Given the description of an element on the screen output the (x, y) to click on. 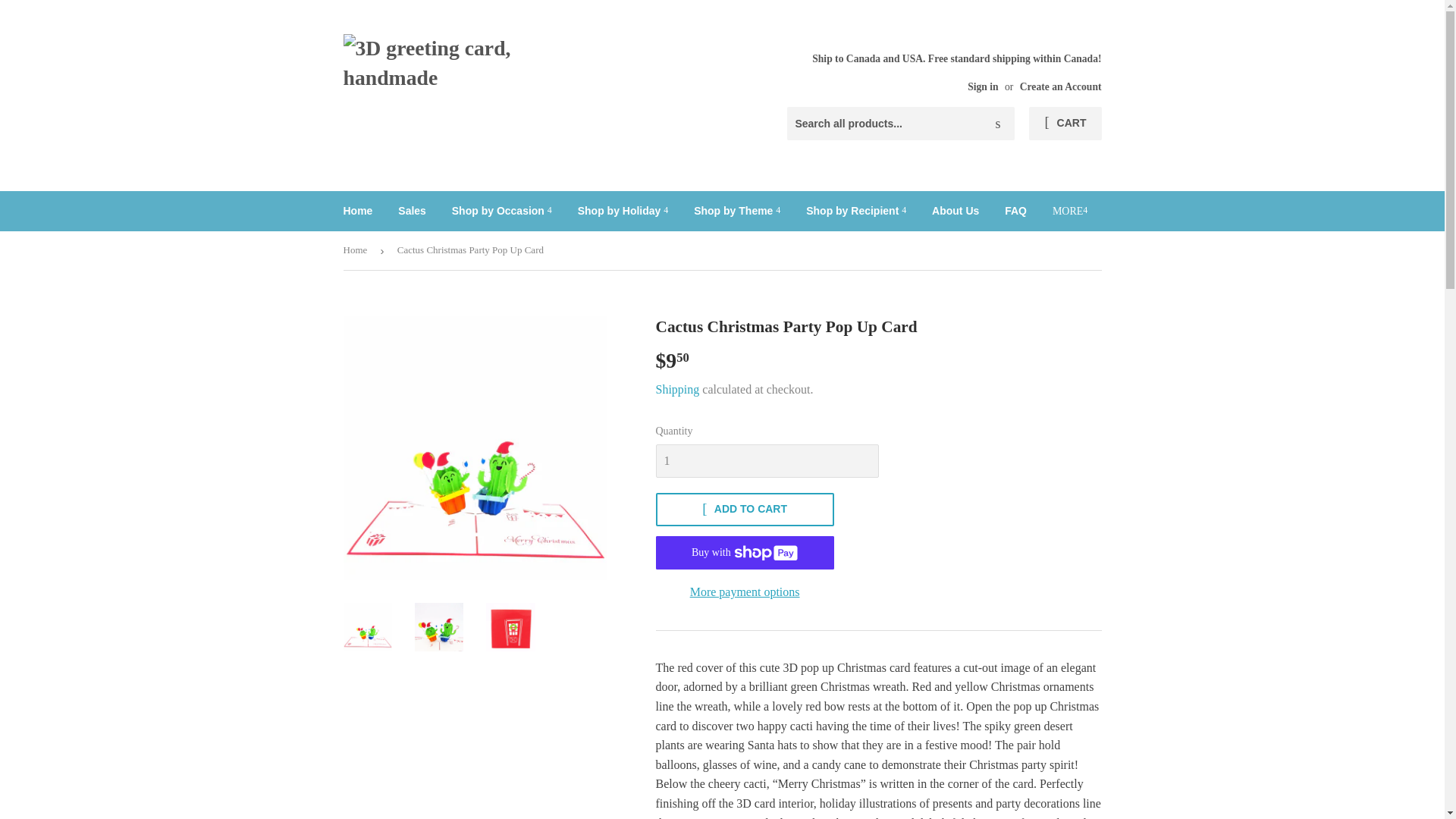
1 (766, 460)
Create an Account (1061, 86)
Search (996, 124)
Sign in (982, 86)
CART (1064, 123)
Back to the frontpage (357, 250)
